Given the description of an element on the screen output the (x, y) to click on. 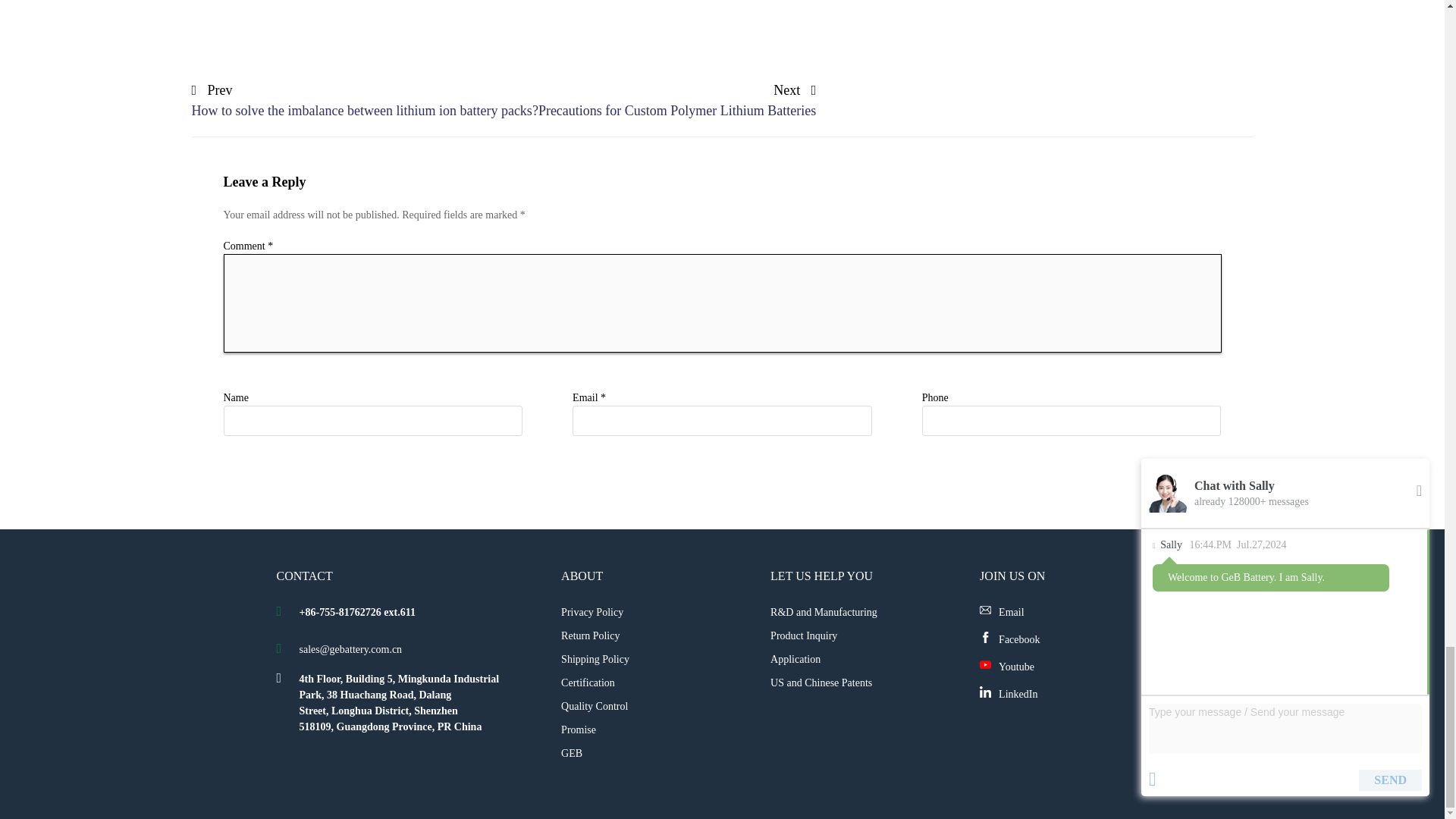
Post Comment (1181, 482)
